Given the description of an element on the screen output the (x, y) to click on. 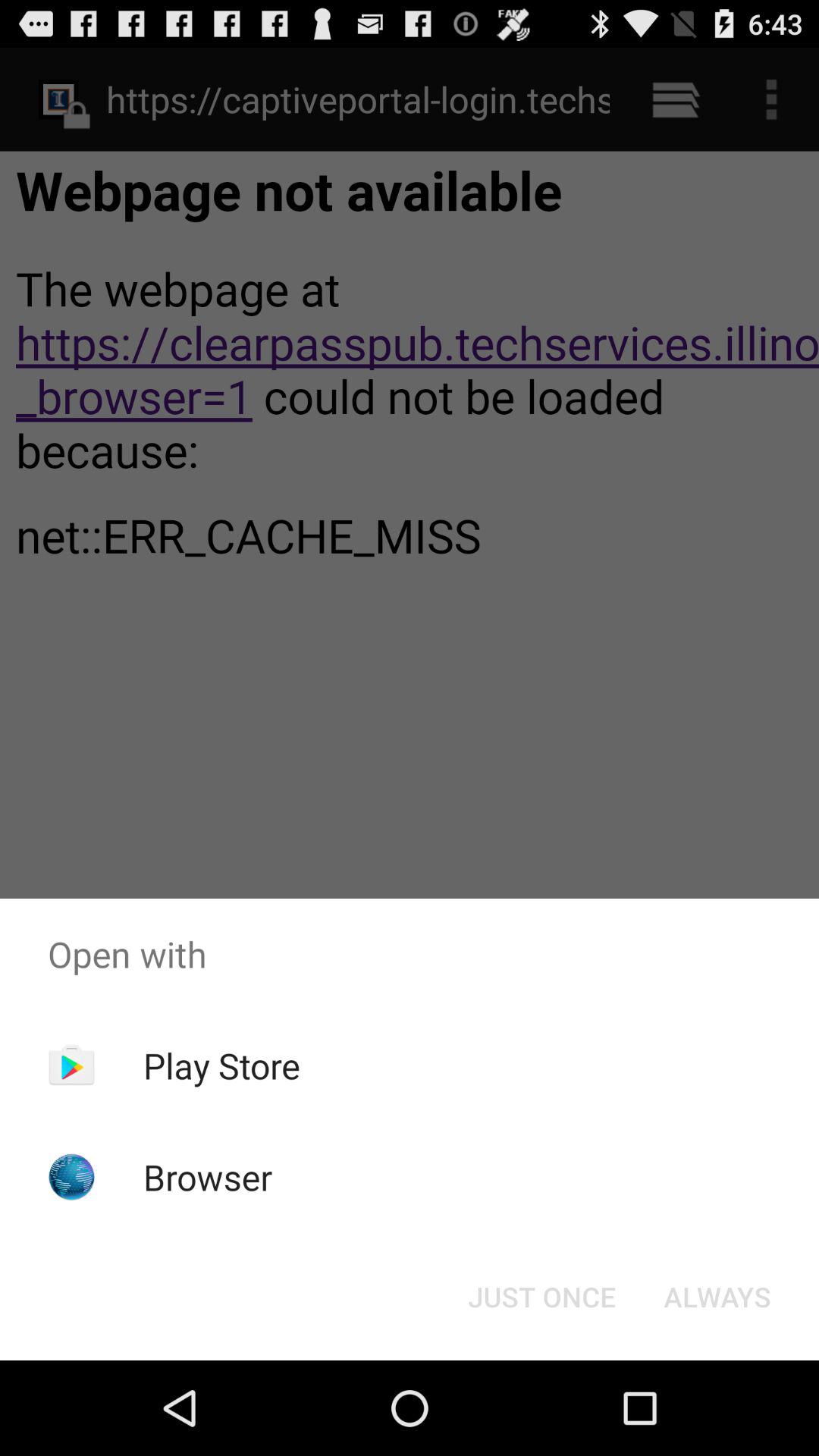
jump until the always item (717, 1296)
